Given the description of an element on the screen output the (x, y) to click on. 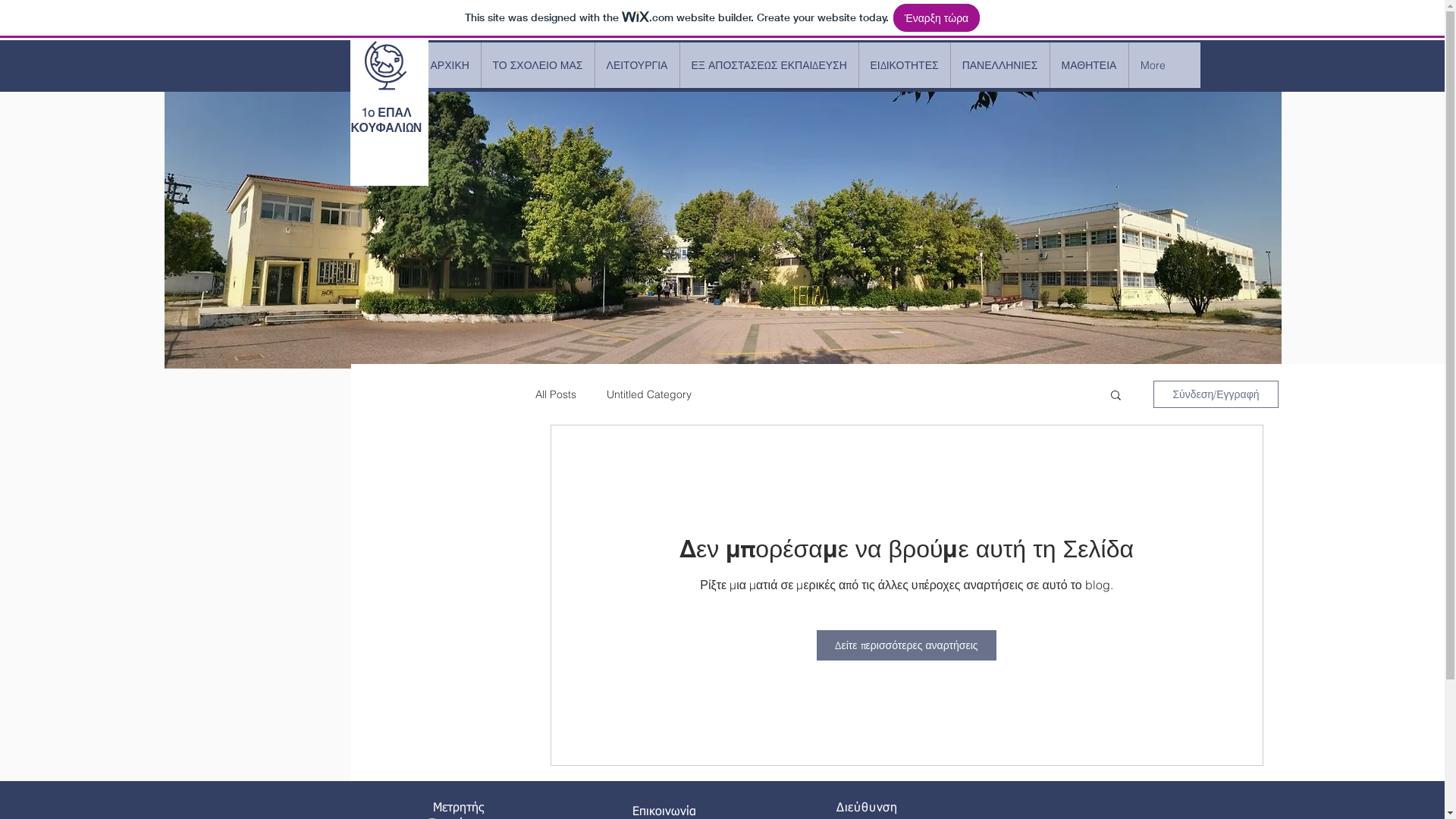
Untitled Category Element type: text (648, 394)
All Posts Element type: text (555, 394)
